Given the description of an element on the screen output the (x, y) to click on. 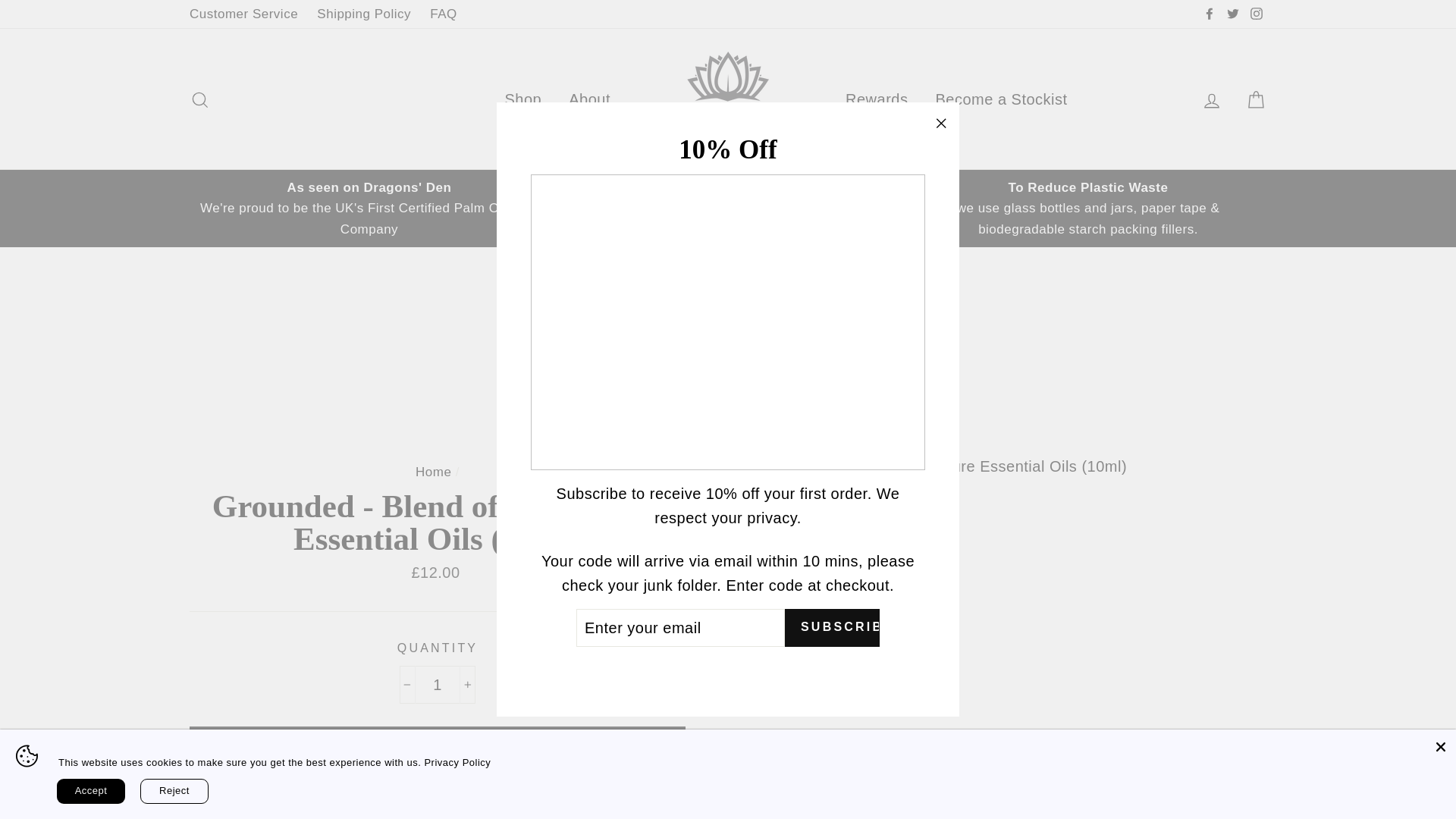
1 (437, 684)
Privacy Policy (456, 762)
Back to the frontpage (432, 472)
